Given the description of an element on the screen output the (x, y) to click on. 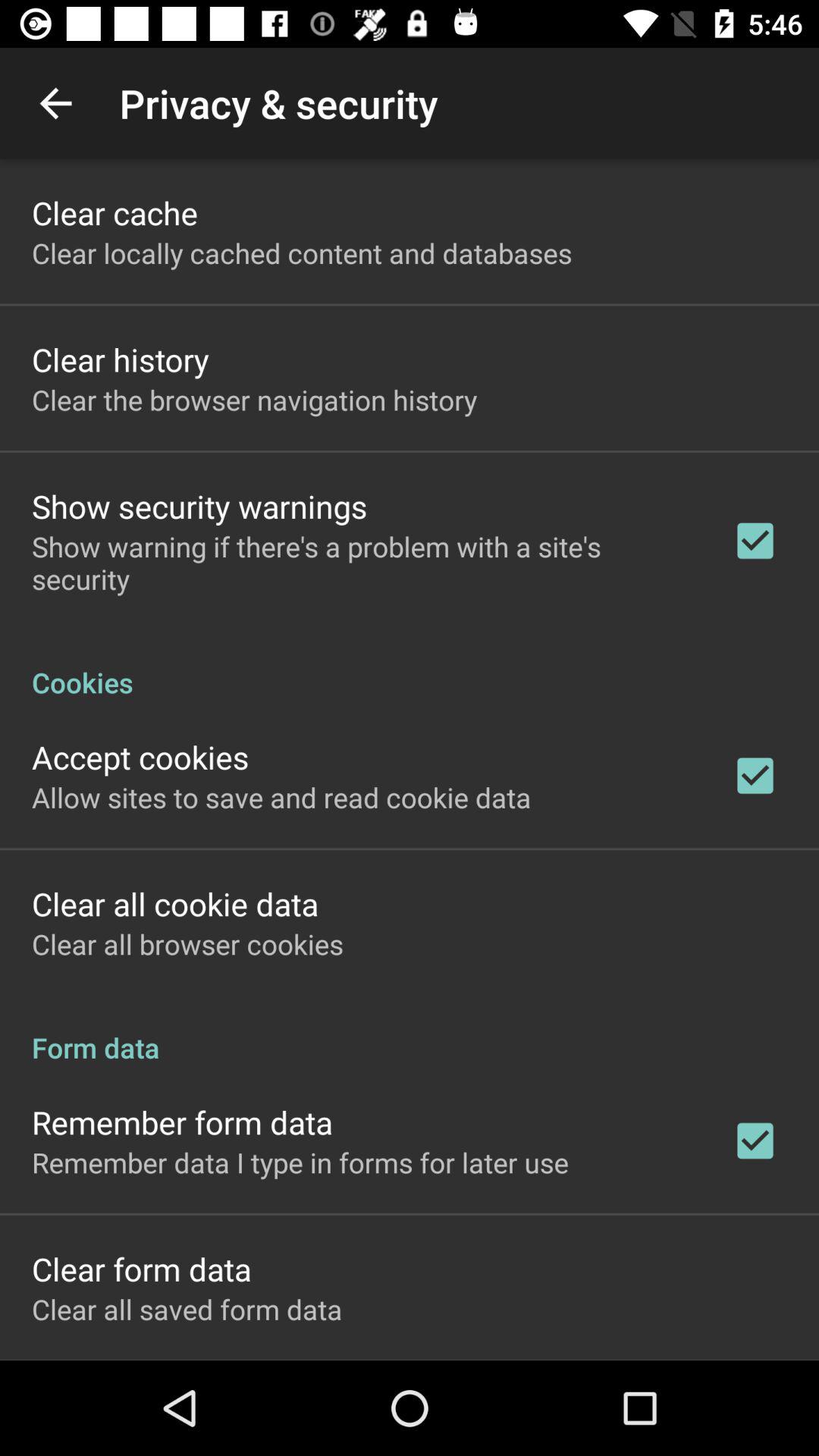
click clear cache icon (114, 212)
